Given the description of an element on the screen output the (x, y) to click on. 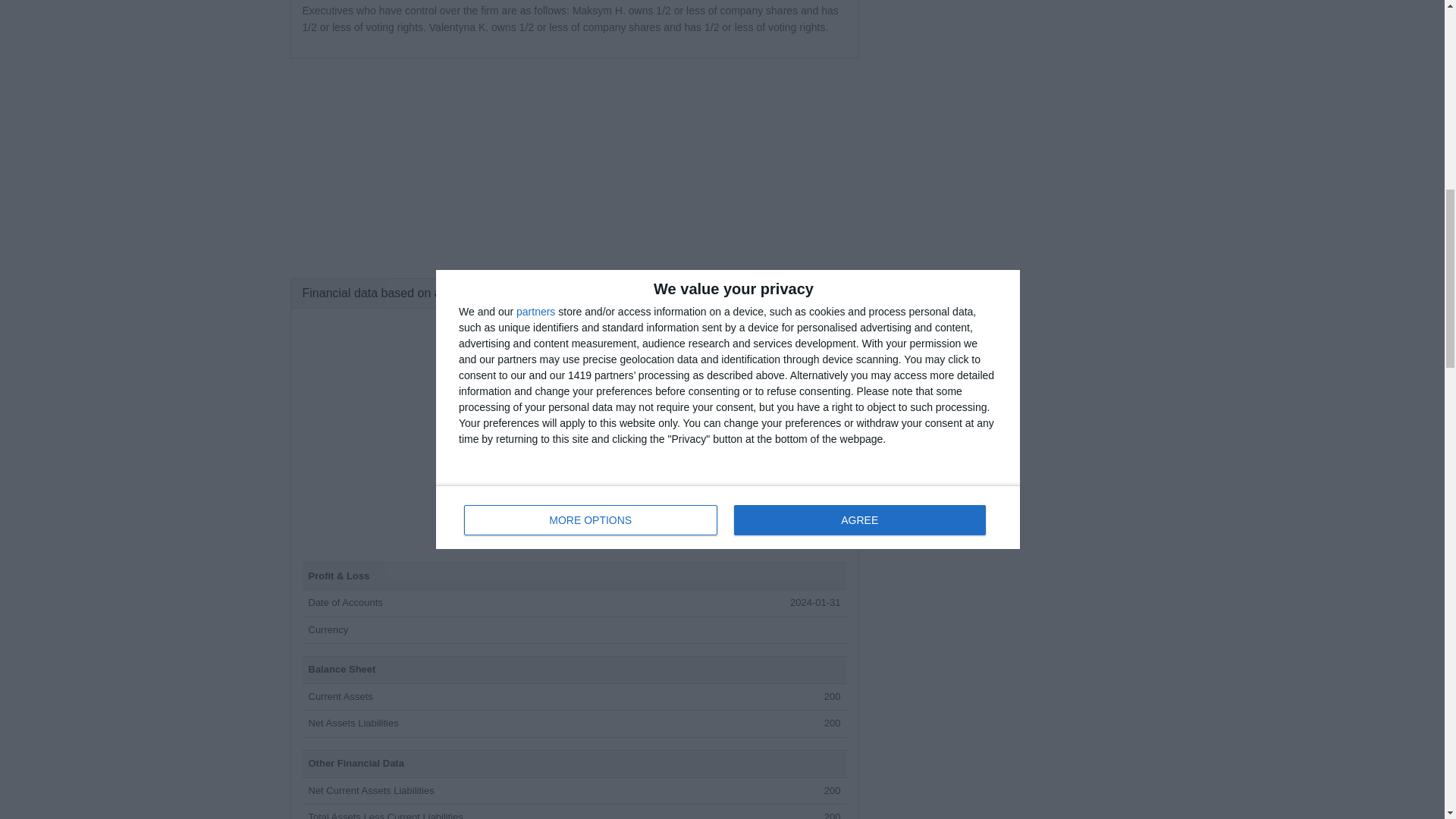
Total assets less current liabilities (385, 815)
Assets to be used or sold within a year (339, 696)
NetAssetsLiabilities (352, 722)
